Given the description of an element on the screen output the (x, y) to click on. 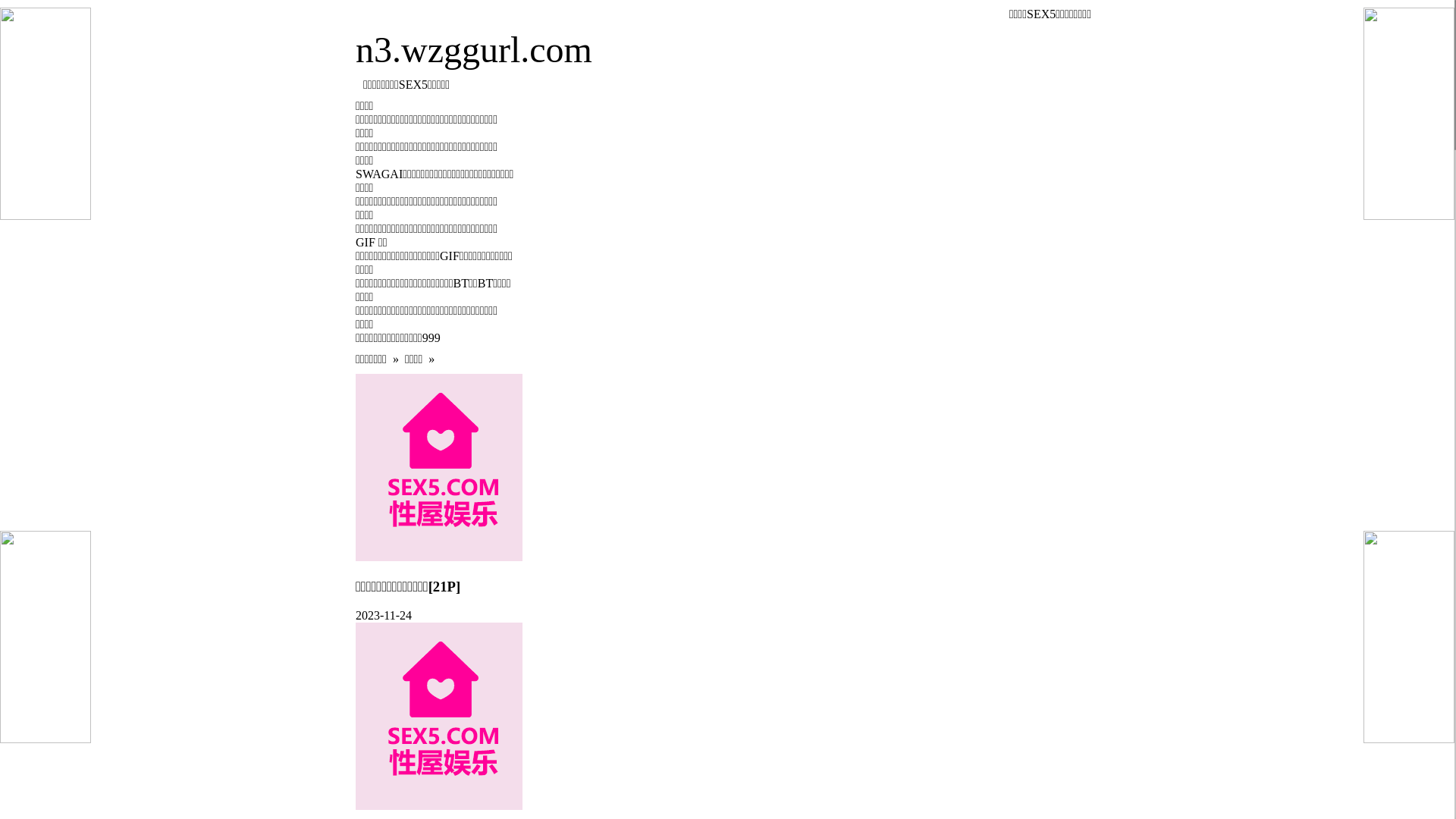
SWAG Element type: text (372, 173)
n3.wzggurl.com Element type: text (726, 49)
